Given the description of an element on the screen output the (x, y) to click on. 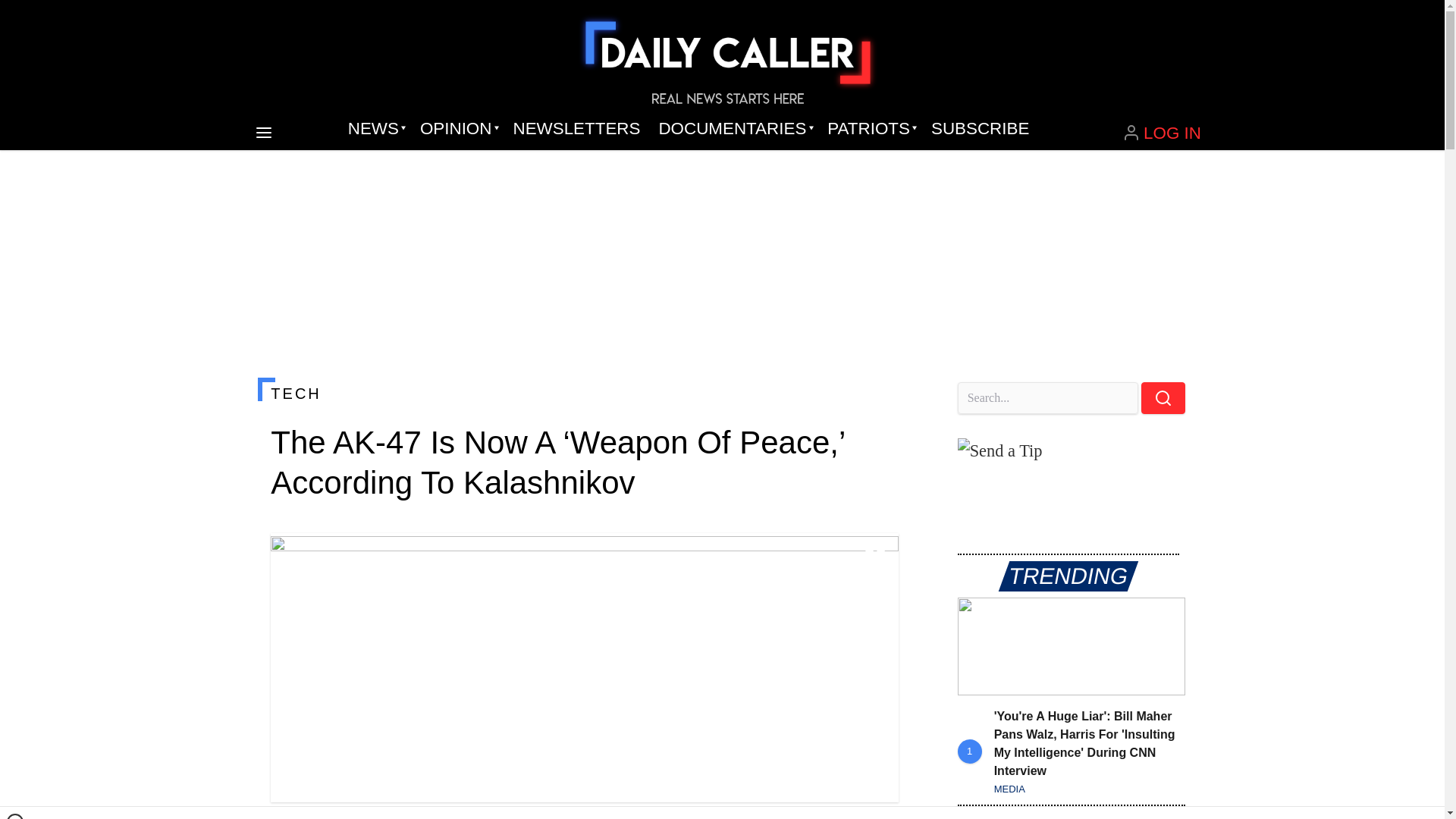
OPINION (456, 128)
NEWS (374, 128)
PATRIOTS (869, 128)
Close window (14, 816)
SUBSCRIBE (979, 128)
DOCUMENTARIES (733, 128)
TECH (584, 393)
Toggle fullscreen (874, 556)
NEWSLETTERS (576, 128)
